Given the description of an element on the screen output the (x, y) to click on. 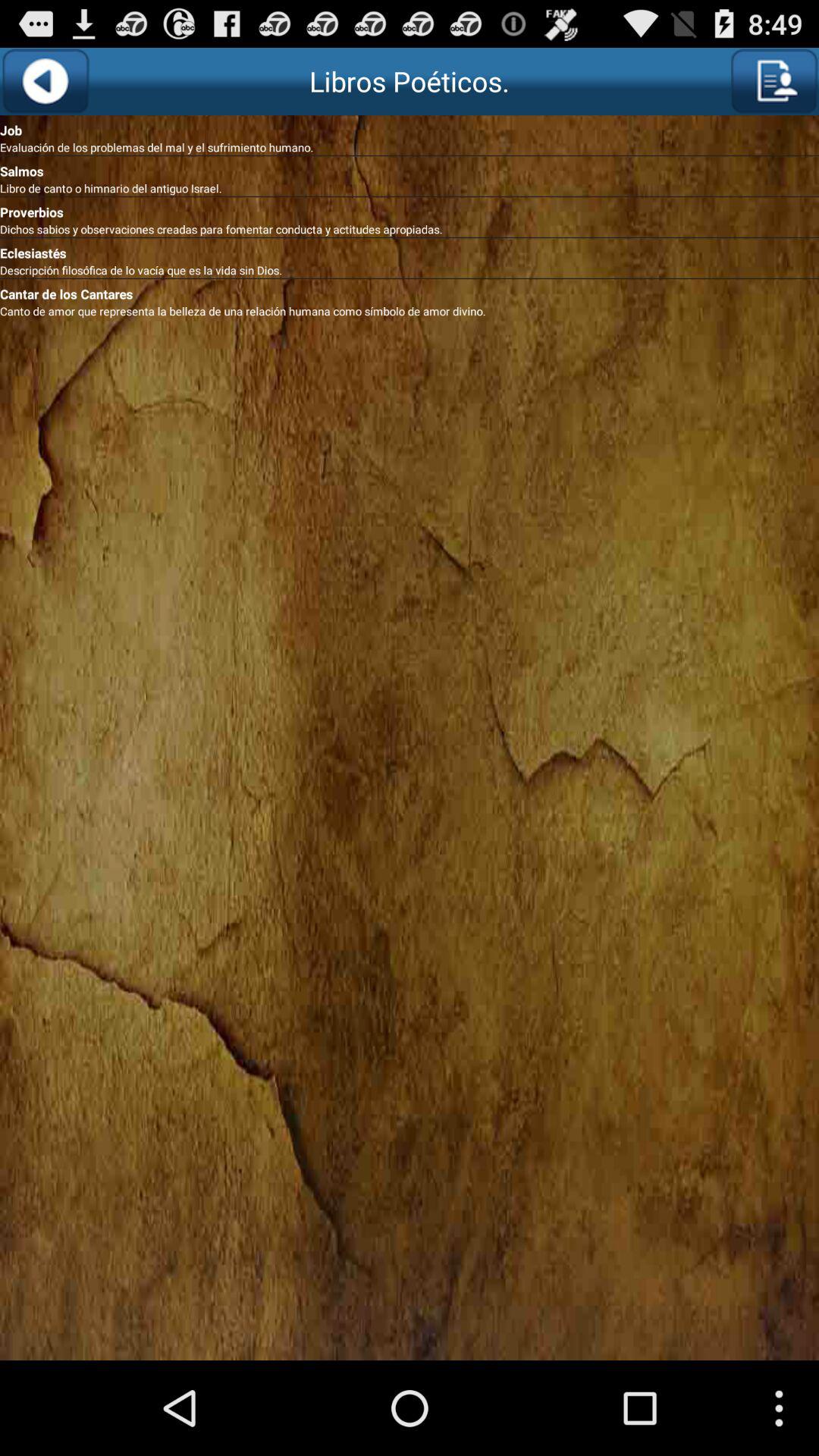
swipe until dichos sabios y app (409, 229)
